Given the description of an element on the screen output the (x, y) to click on. 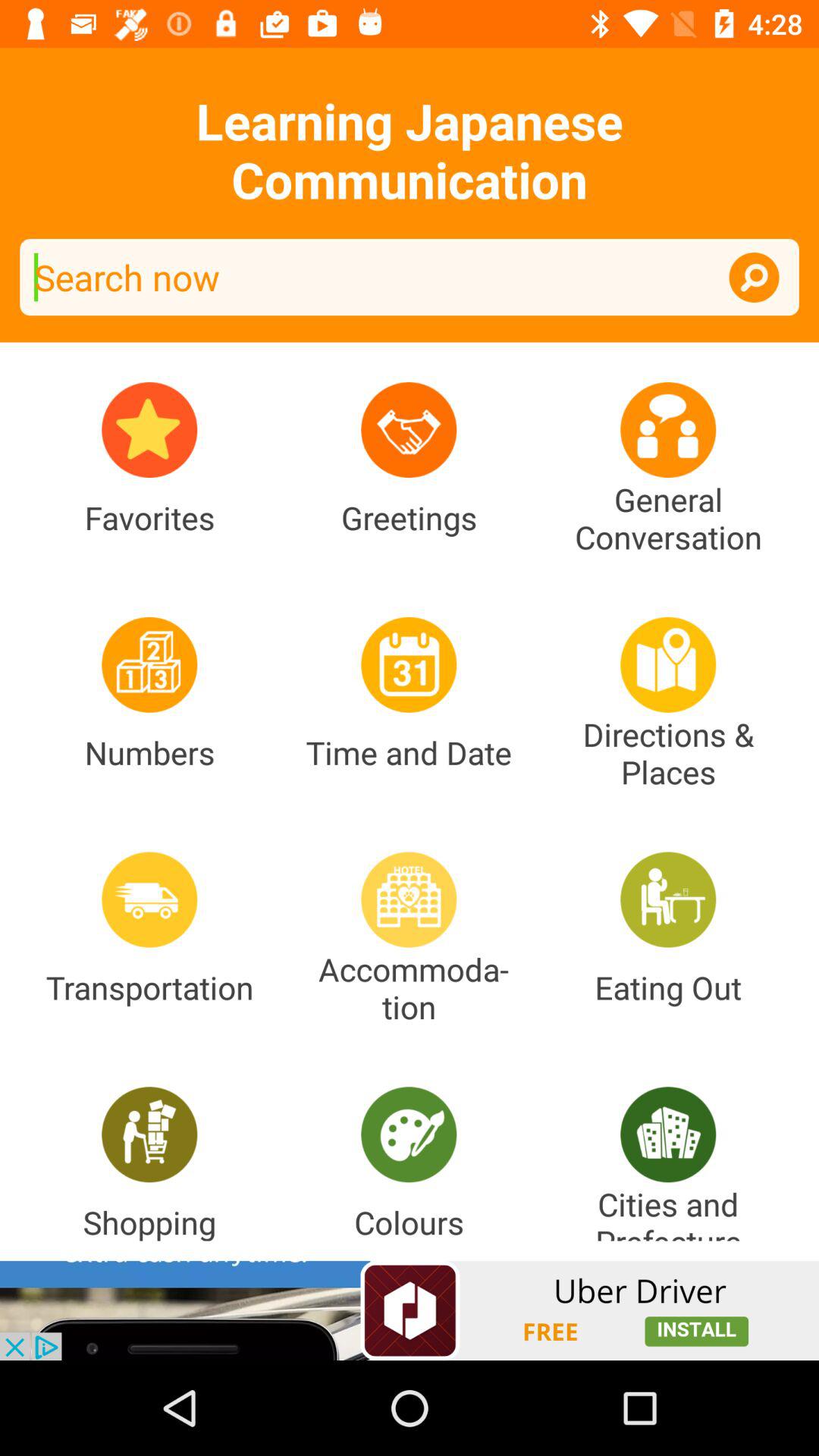
search bar (409, 276)
